Given the description of an element on the screen output the (x, y) to click on. 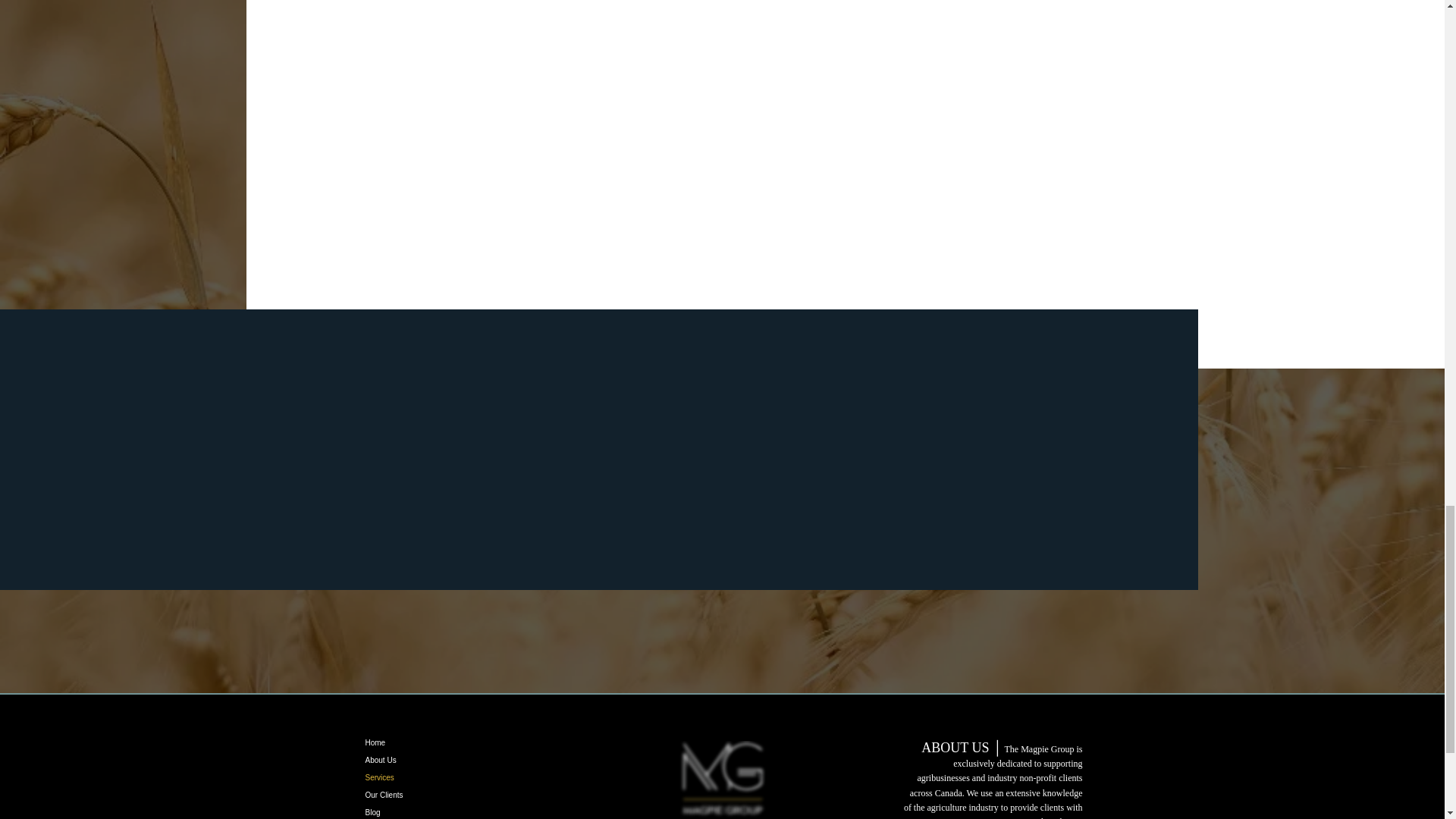
Home (418, 742)
About Us (418, 760)
Services (418, 777)
Blog (418, 811)
Our Clients (418, 794)
Magpie Group logo (722, 780)
